Given the description of an element on the screen output the (x, y) to click on. 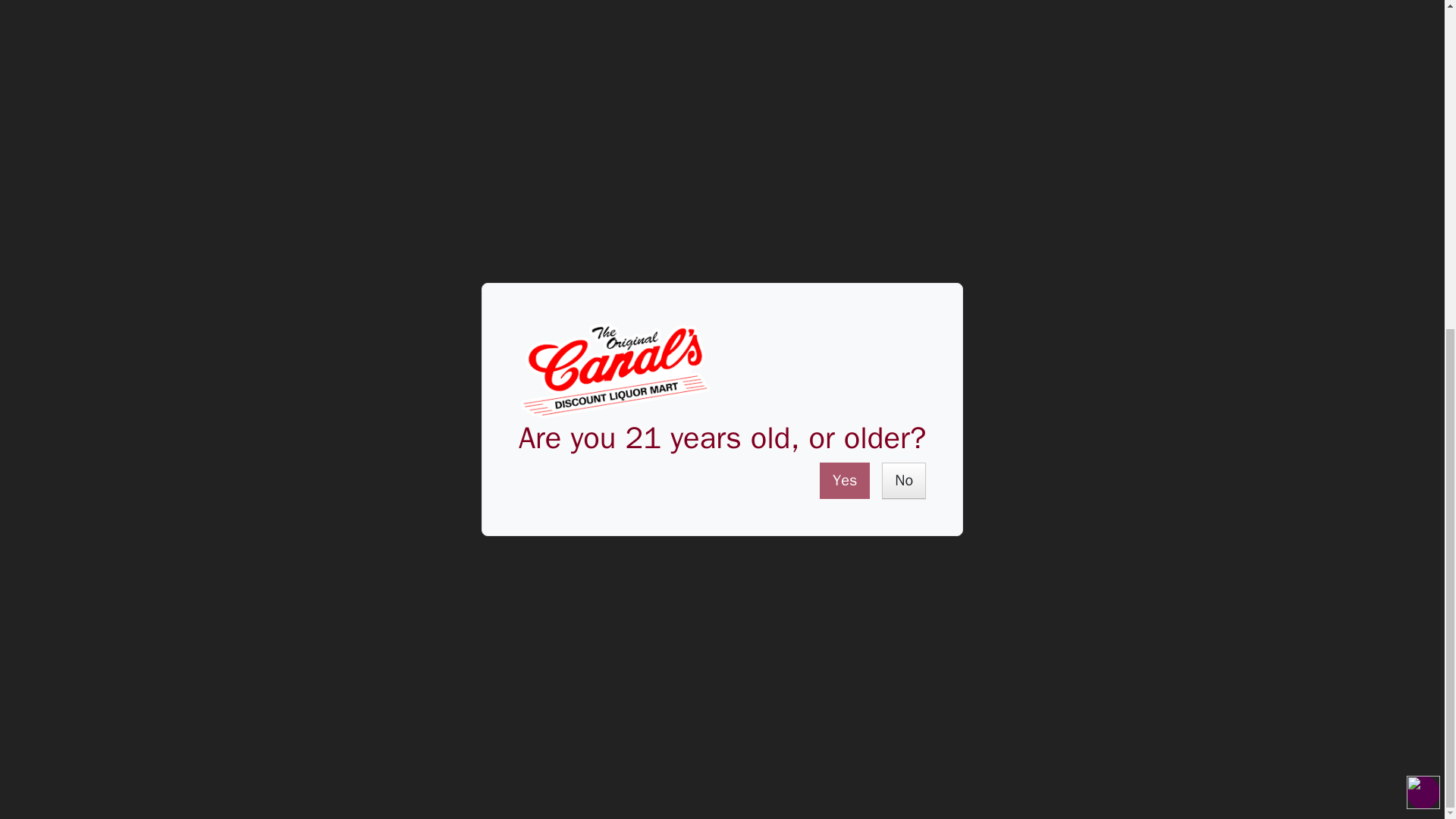
Wine Enthusiast 90 point rating. (781, 330)
Accessibility Menu (1422, 247)
